Given the description of an element on the screen output the (x, y) to click on. 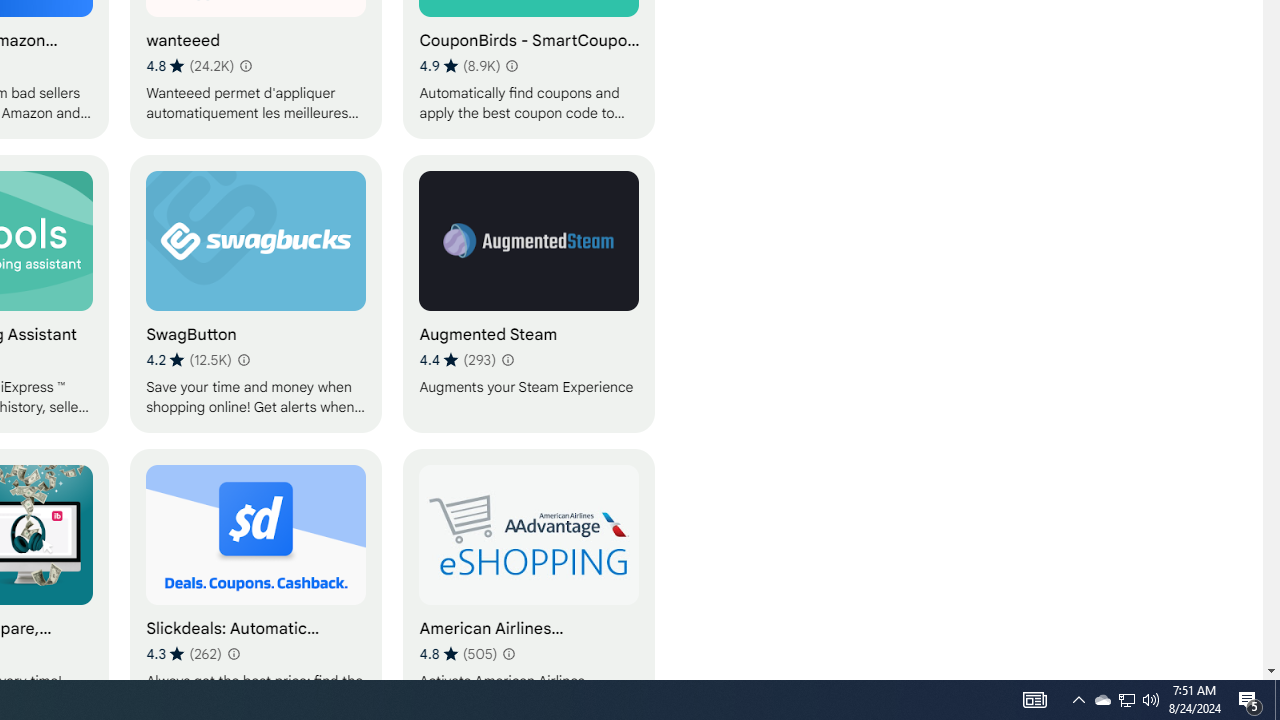
Average rating 4.4 out of 5 stars. 293 ratings. (457, 359)
Learn more about results and reviews "wanteeed" (245, 65)
Average rating 4.9 out of 5 stars. 8.9K ratings. (459, 66)
Learn more about results and reviews "SwagButton" (242, 359)
SwagButton (256, 293)
Augmented Steam (529, 293)
Learn more about results and reviews "Augmented Steam" (506, 359)
Average rating 4.8 out of 5 stars. 24.2K ratings. (190, 66)
Average rating 4.3 out of 5 stars. 262 ratings. (183, 653)
Average rating 4.8 out of 5 stars. 505 ratings. (457, 653)
Average rating 4.2 out of 5 stars. 12.5K ratings. (188, 359)
